Given the description of an element on the screen output the (x, y) to click on. 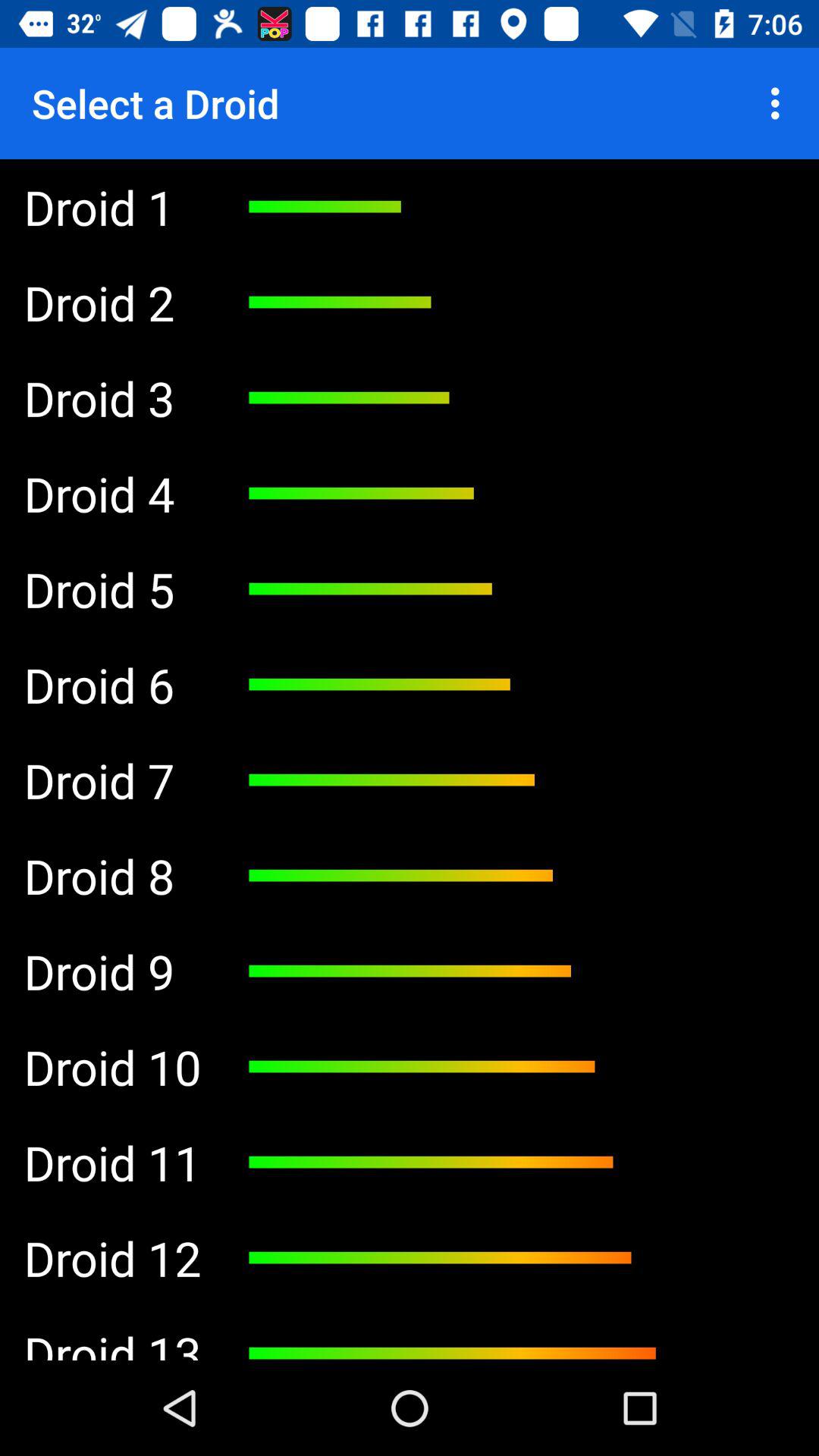
scroll to droid 3 icon (112, 397)
